Given the description of an element on the screen output the (x, y) to click on. 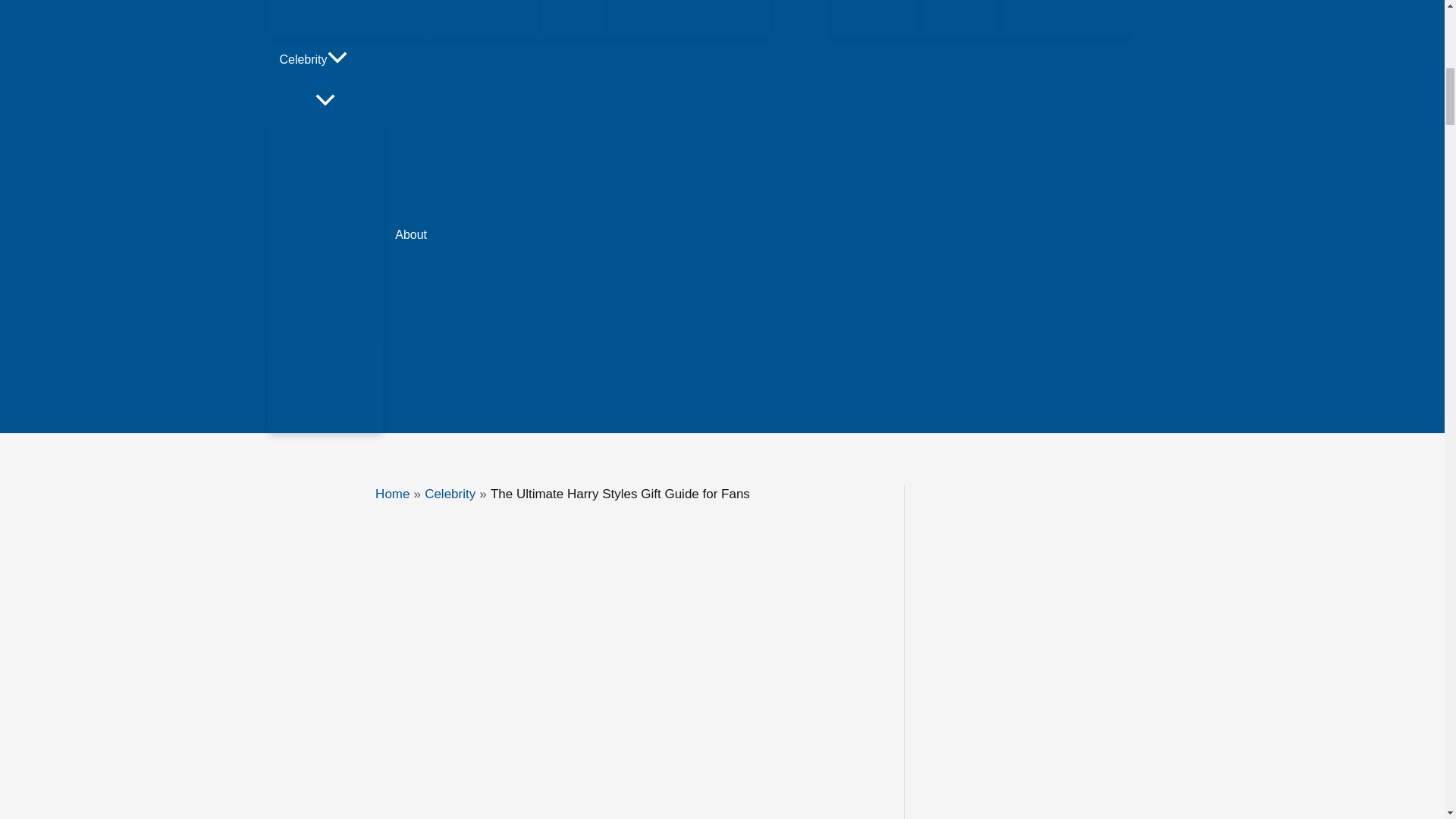
Onward (346, 18)
Manga (800, 18)
Harry Potter (876, 18)
Batman (572, 18)
Naruto (687, 18)
Captain America (483, 18)
